Given the description of an element on the screen output the (x, y) to click on. 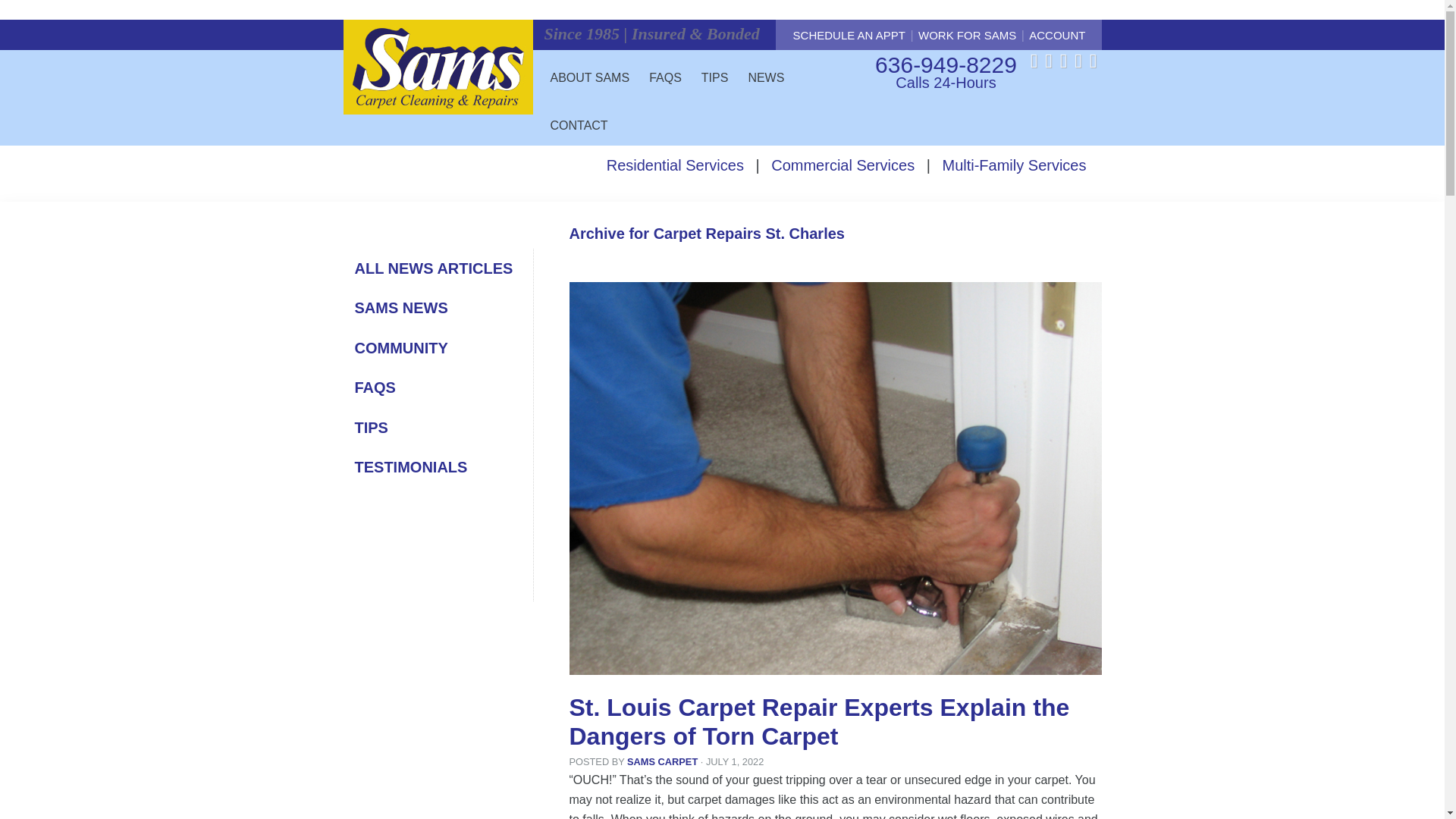
SAMS CARPET (662, 761)
FAQS (375, 387)
Residential Services (675, 165)
TIPS (371, 426)
TESTIMONIALS (411, 466)
SCHEDULE AN APPT (849, 35)
ACCOUNT LOGIN (1002, 45)
WORK FOR SAMS (967, 35)
TIPS (715, 73)
COMMUNITY (401, 347)
FAQS (665, 73)
Sams Carpet (662, 761)
Multi-Family Services (1014, 165)
CONTACT (579, 121)
